Given the description of an element on the screen output the (x, y) to click on. 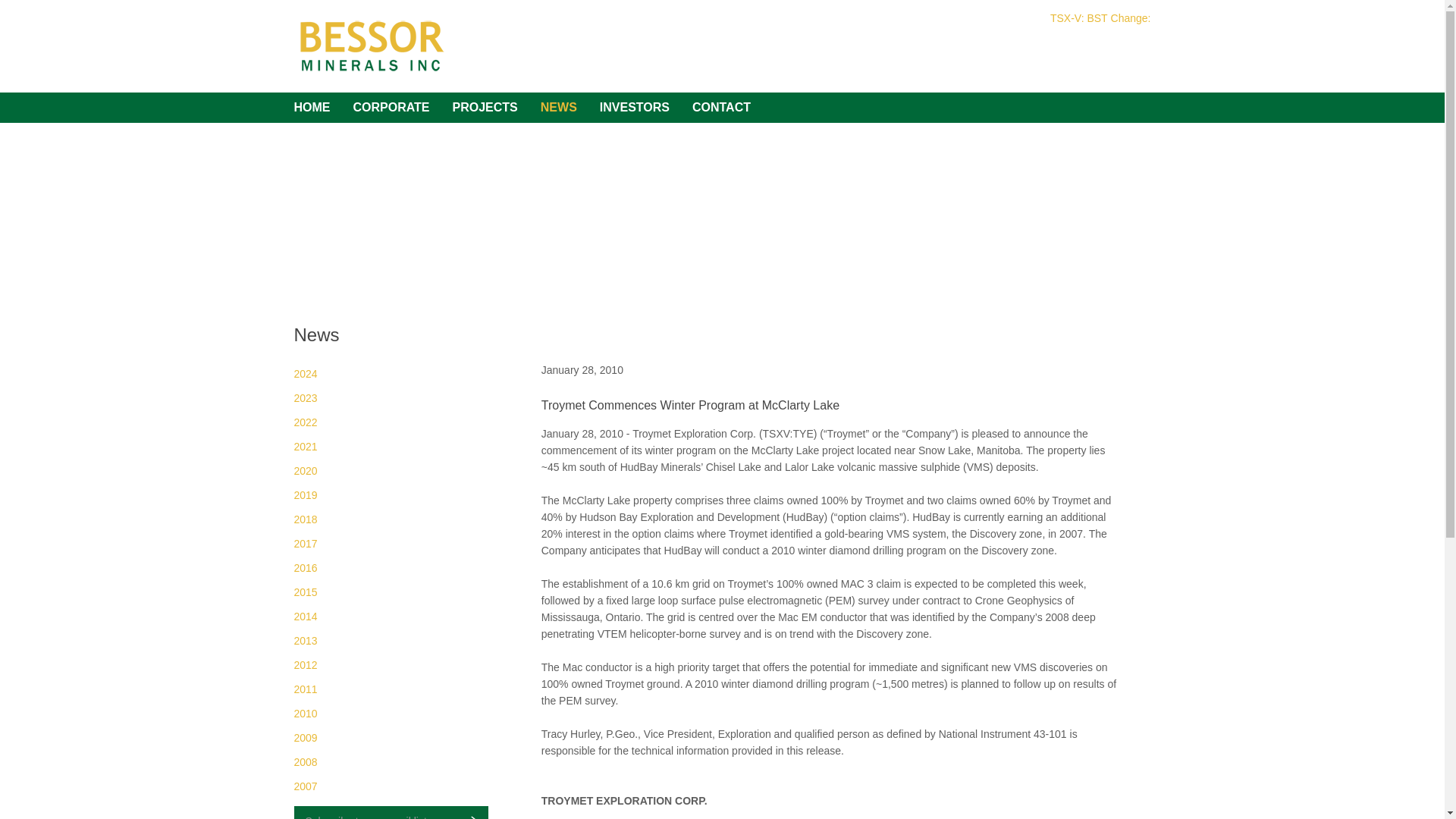
2015 (305, 592)
2016 (305, 567)
2023 (305, 398)
2021 (305, 446)
PROJECTS (485, 107)
CONTACT (722, 107)
2017 (305, 543)
CORPORATE (391, 107)
2022 (305, 422)
2018 (305, 519)
